Given the description of an element on the screen output the (x, y) to click on. 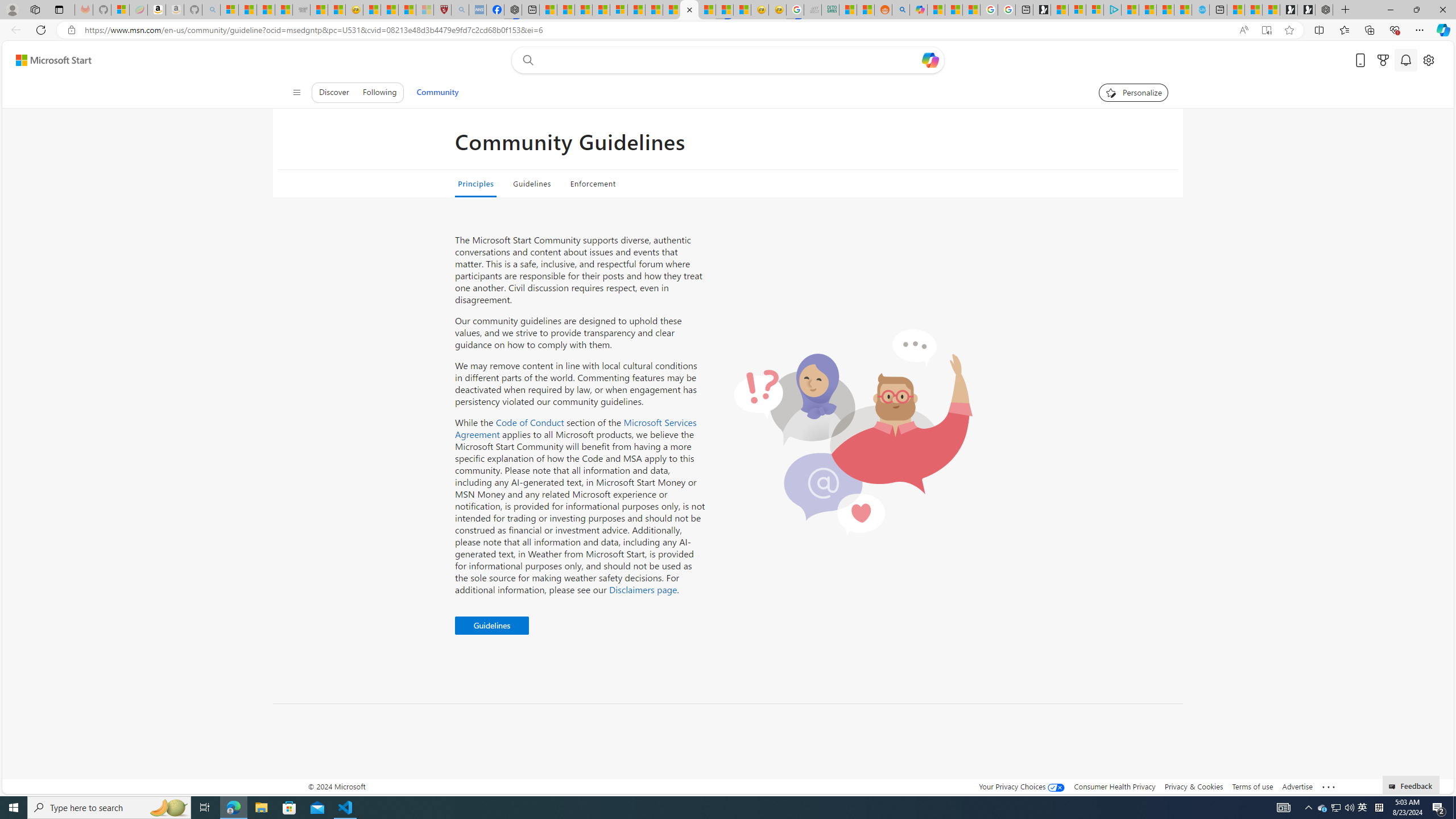
Following (379, 92)
Your Privacy Choices (1021, 786)
Guidelines  (491, 625)
Terms of use (1252, 785)
Split screen (1318, 29)
Skip to footer (46, 59)
Community (437, 92)
Combat Siege (301, 9)
